Given the description of an element on the screen output the (x, y) to click on. 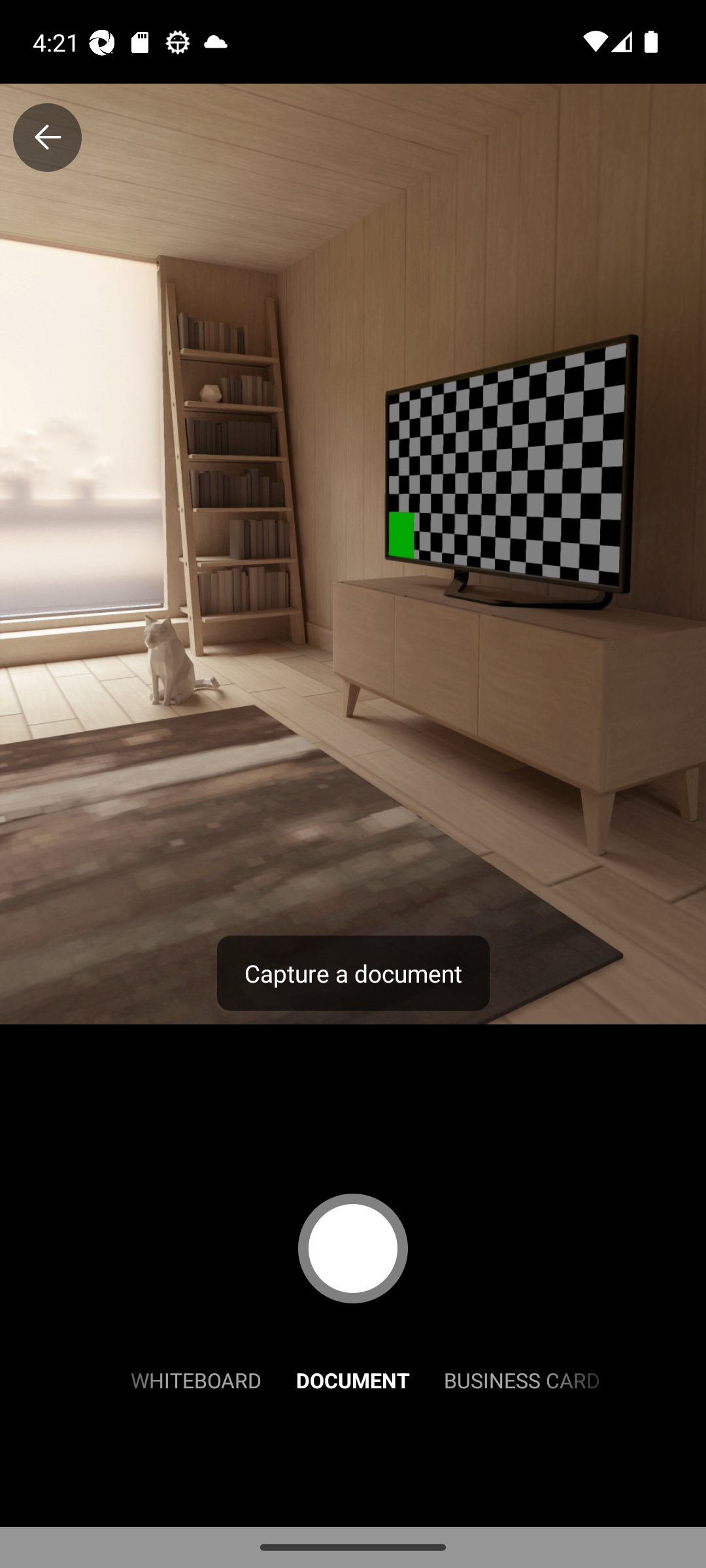
Close (47, 137)
Capture (352, 1248)
WHITEBOARD (196, 1379)
DOCUMENT (352, 1379)
BUSINESS CARD (521, 1379)
